Given the description of an element on the screen output the (x, y) to click on. 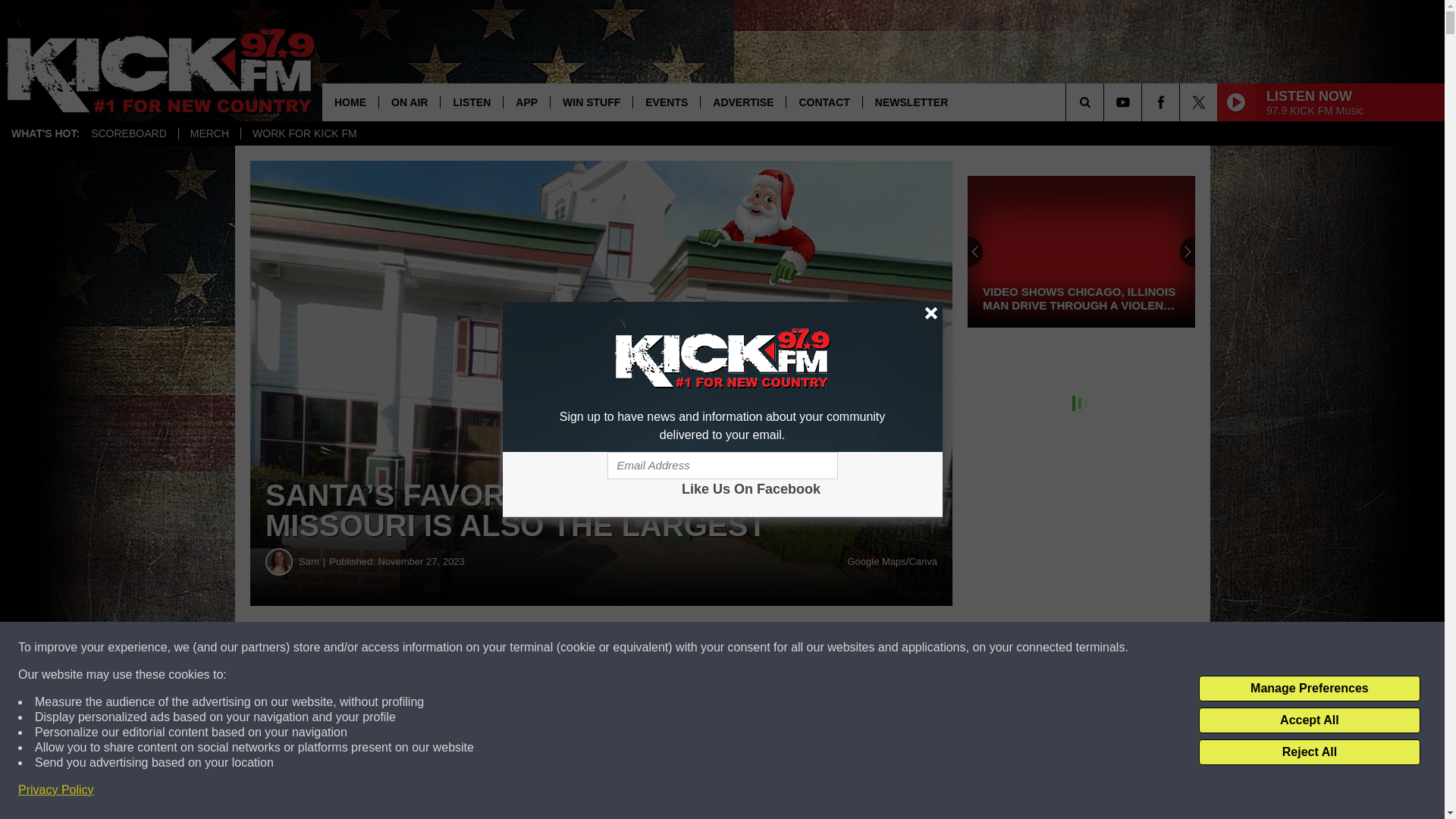
HOME (349, 102)
WORK FOR KICK FM (304, 133)
WIN STUFF (590, 102)
SCOREBOARD (128, 133)
Manage Preferences (1309, 688)
ADVERTISE (743, 102)
Reject All (1309, 751)
Email Address (722, 465)
Accept All (1309, 720)
MERCH (208, 133)
Share on Facebook (460, 647)
ON AIR (408, 102)
CONTACT (823, 102)
SEARCH (1106, 102)
Privacy Policy (55, 789)
